Given the description of an element on the screen output the (x, y) to click on. 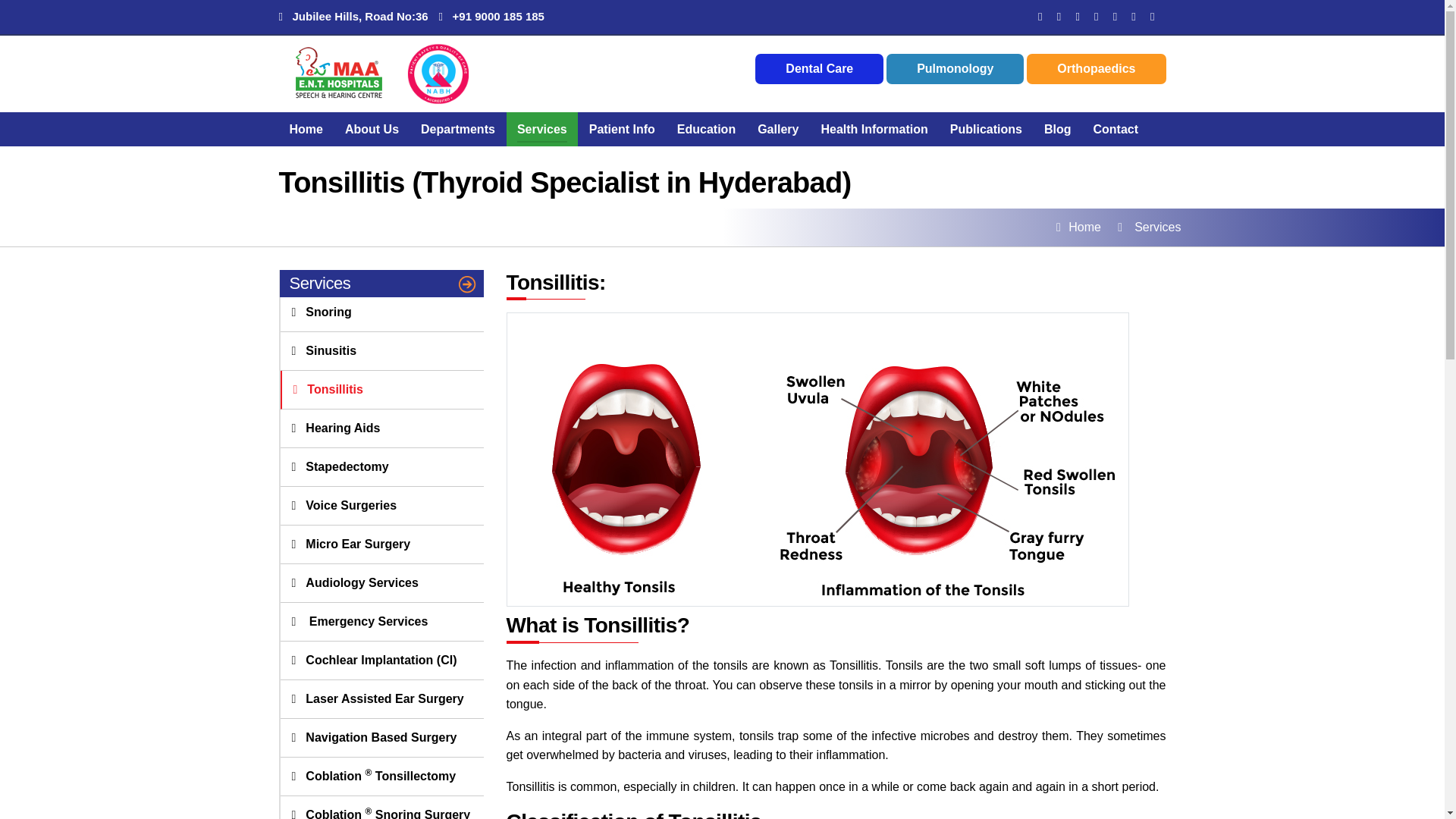
Departments (457, 129)
Dental Care (819, 68)
Home (306, 129)
   Jubilee Hills, Road No:36 (353, 15)
Services (541, 129)
About Us (371, 129)
Orthopaedics (1096, 68)
Pulmonology (954, 68)
